Given the description of an element on the screen output the (x, y) to click on. 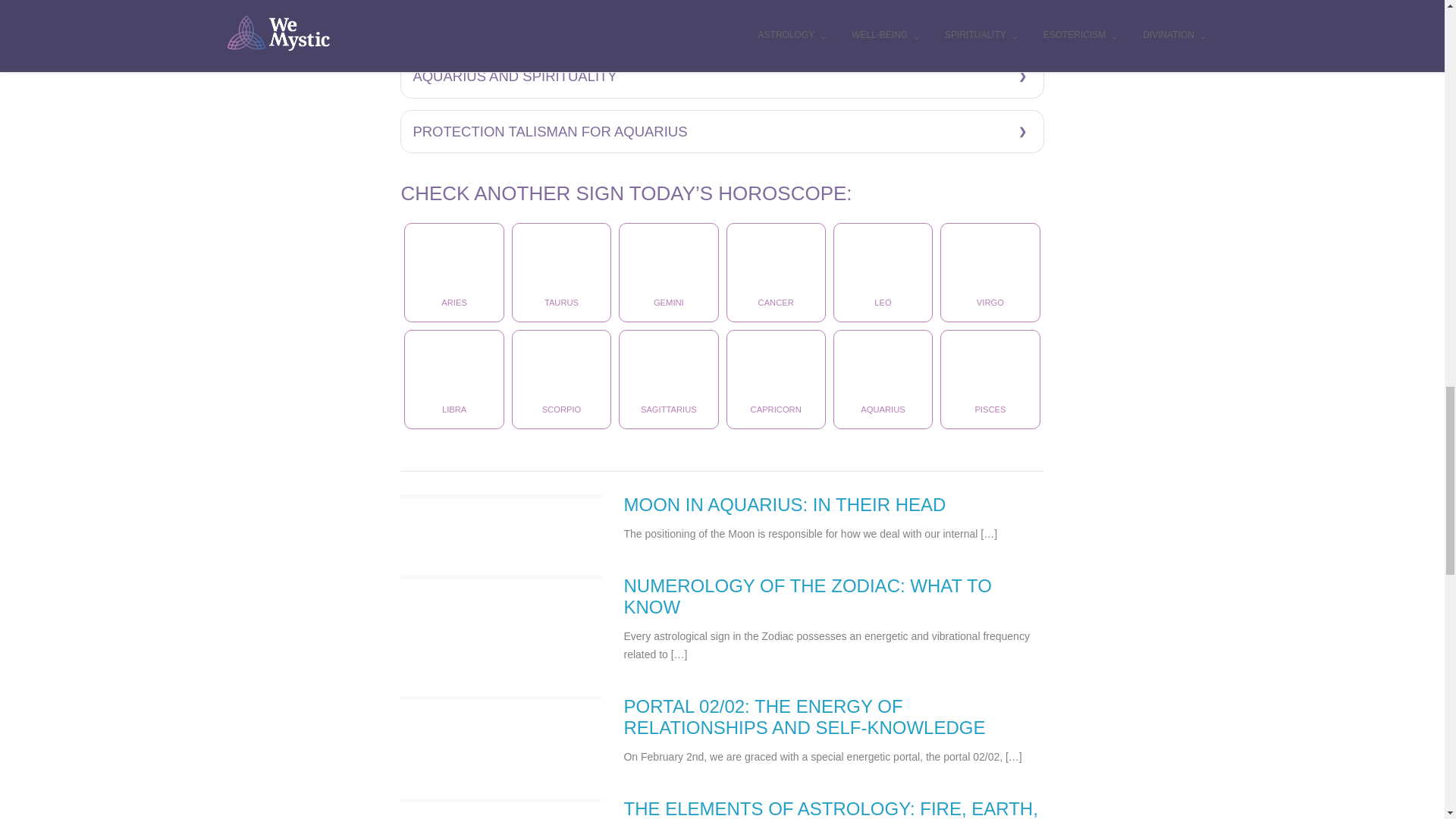
Daily Horoscope for Taurus (561, 272)
Daily Horoscope for Leo (882, 272)
LEO (882, 272)
CANCER (775, 272)
Daily Horoscope for Cancer (775, 272)
ARIES (453, 272)
NUMEROLOGY OF THE ZODIAC: WHAT TO KNOW (807, 595)
Daily Horoscope for Sagittarius (667, 379)
MOON IN AQUARIUS: IN THEIR HEAD (783, 504)
LIBRA (453, 379)
